Given the description of an element on the screen output the (x, y) to click on. 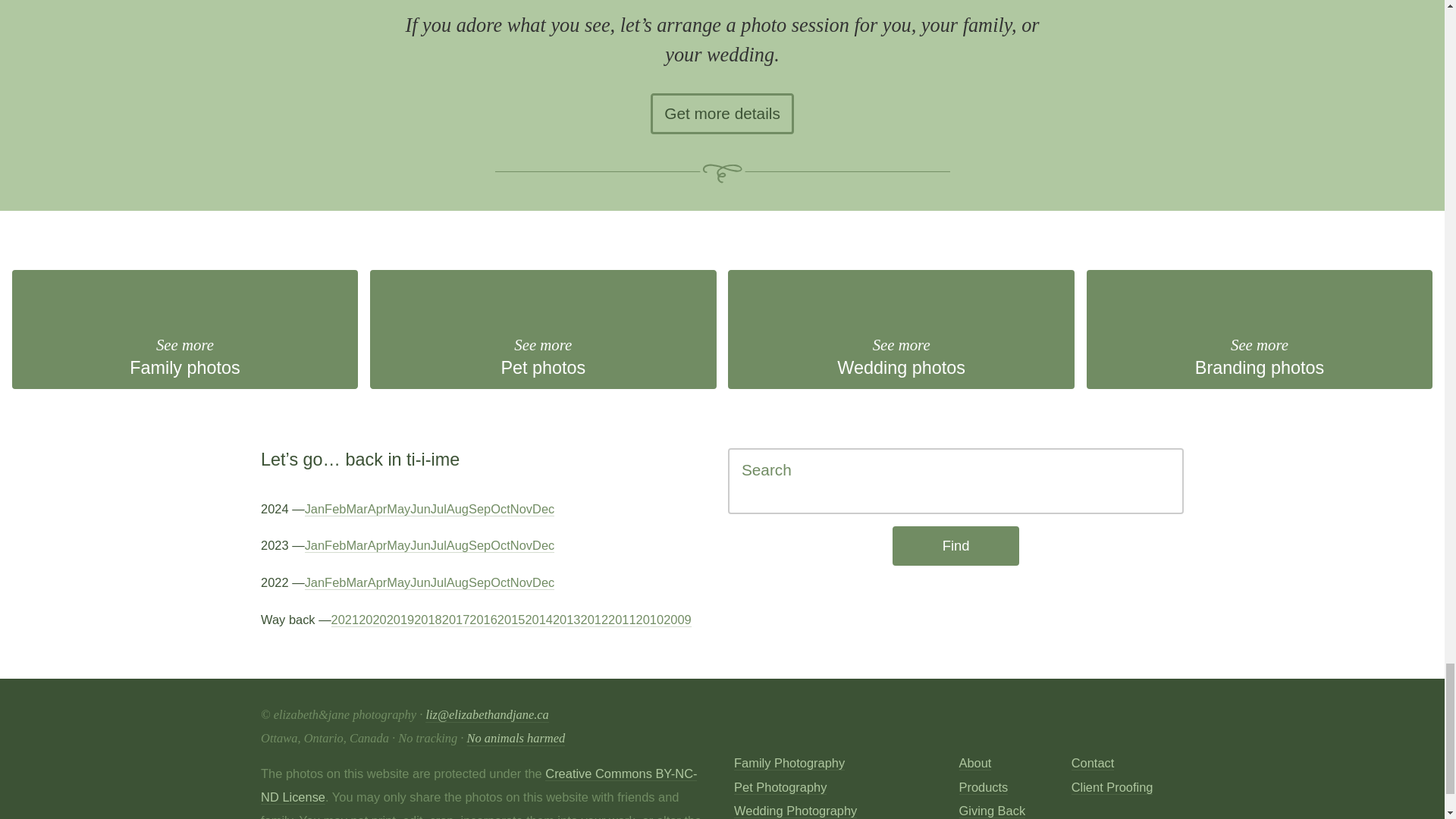
Get more details (184, 329)
Jan (1259, 329)
